Given the description of an element on the screen output the (x, y) to click on. 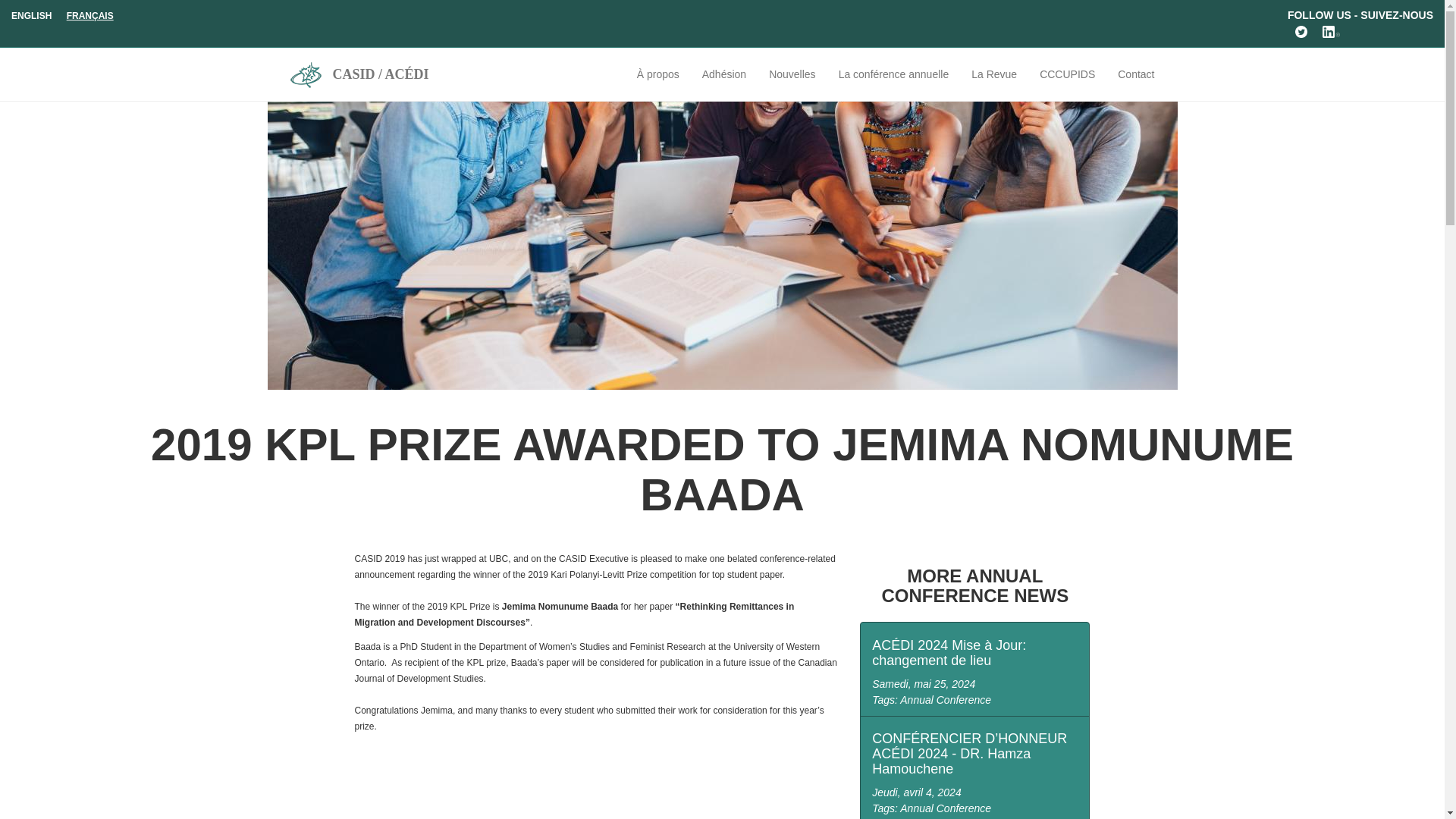
Accueil (310, 73)
Nouvelles (792, 73)
ENGLISH (30, 15)
Accueil (381, 73)
Contact (1130, 73)
La Revue (993, 73)
CCCUPIDS (1066, 73)
